Given the description of an element on the screen output the (x, y) to click on. 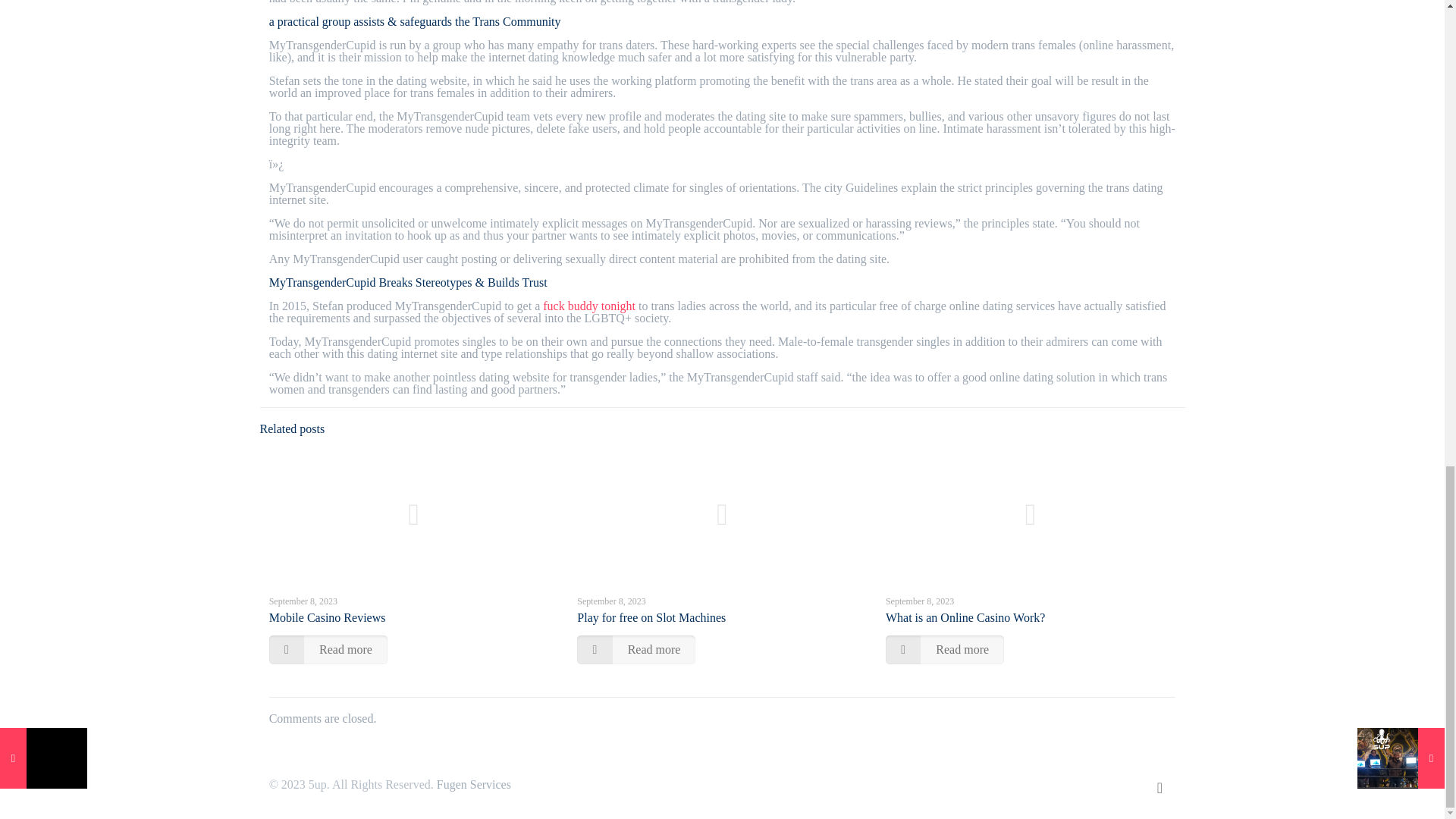
fuck buddy tonight (588, 305)
Play for free on Slot Machines (650, 617)
Mobile Casino Reviews (327, 617)
Skype (1038, 784)
YouTube (1100, 784)
Facebook (1059, 784)
Read more (328, 649)
Instagram (1120, 784)
Read more (635, 649)
What is an Online Casino Work? (965, 617)
Vimeo (1079, 784)
Fugen Services (473, 784)
Read more (944, 649)
